Given the description of an element on the screen output the (x, y) to click on. 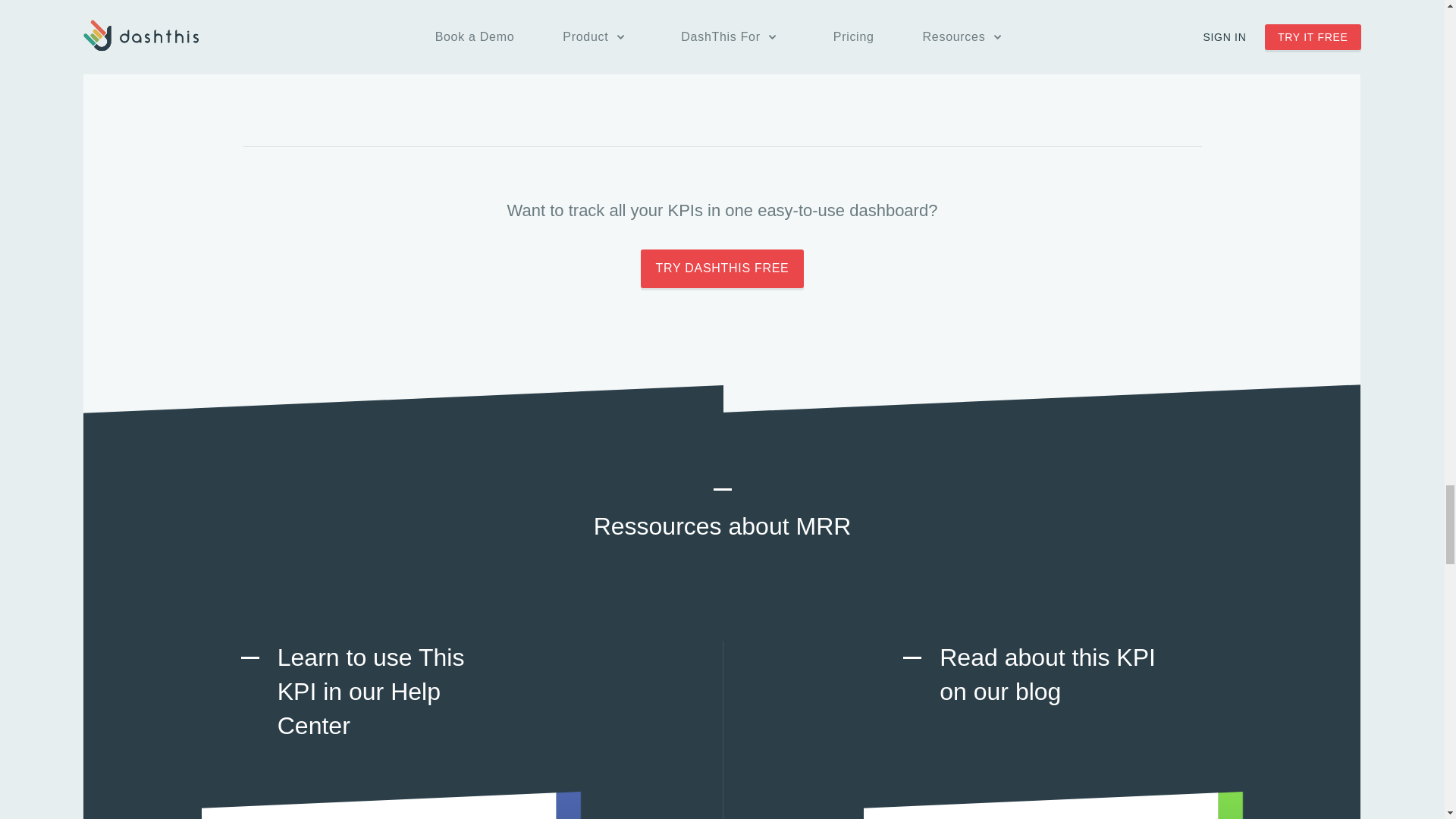
Free trial (722, 268)
